Given the description of an element on the screen output the (x, y) to click on. 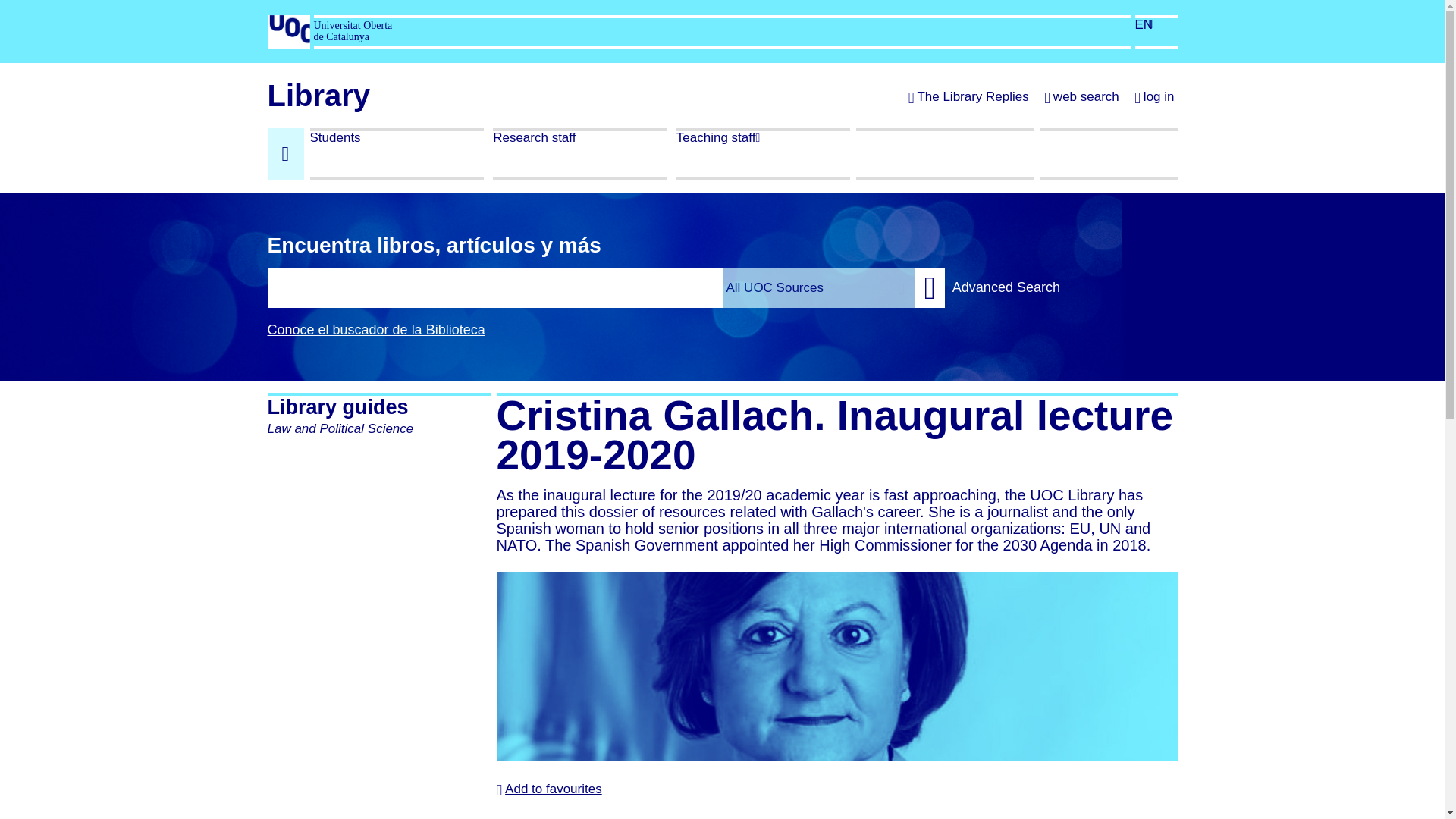
Students (395, 154)
web search (1081, 98)
log in (1153, 98)
Research staff (579, 154)
The Library Replies (968, 98)
form opens in a new window (721, 286)
Logo UOC (287, 30)
link opens in a new window (287, 42)
